Given the description of an element on the screen output the (x, y) to click on. 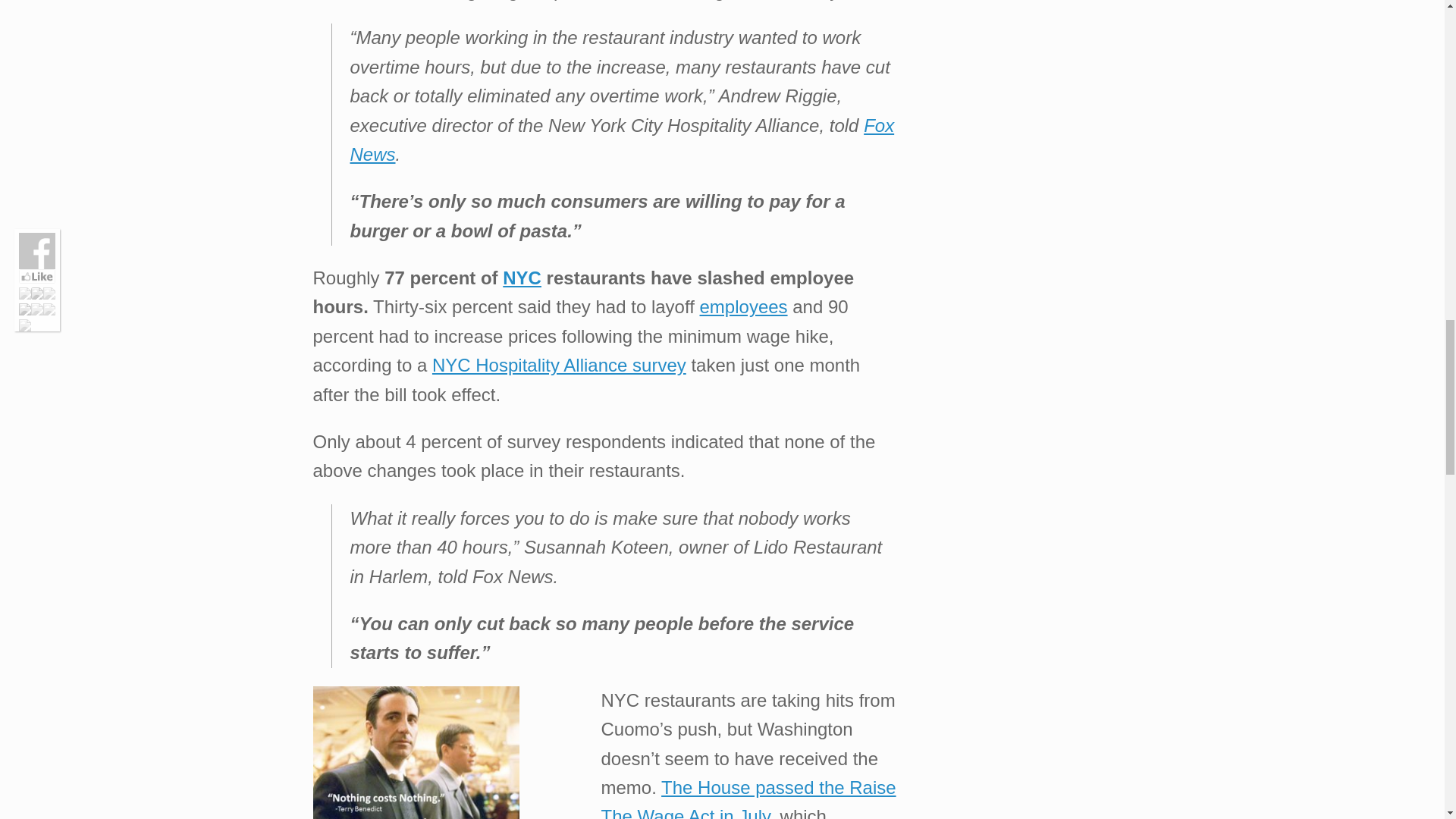
Fox News (622, 139)
employees (743, 306)
The House passed the Raise The Wage Act in July (747, 798)
NYC Hospitality Alliance survey (558, 364)
NYC (521, 277)
